Given the description of an element on the screen output the (x, y) to click on. 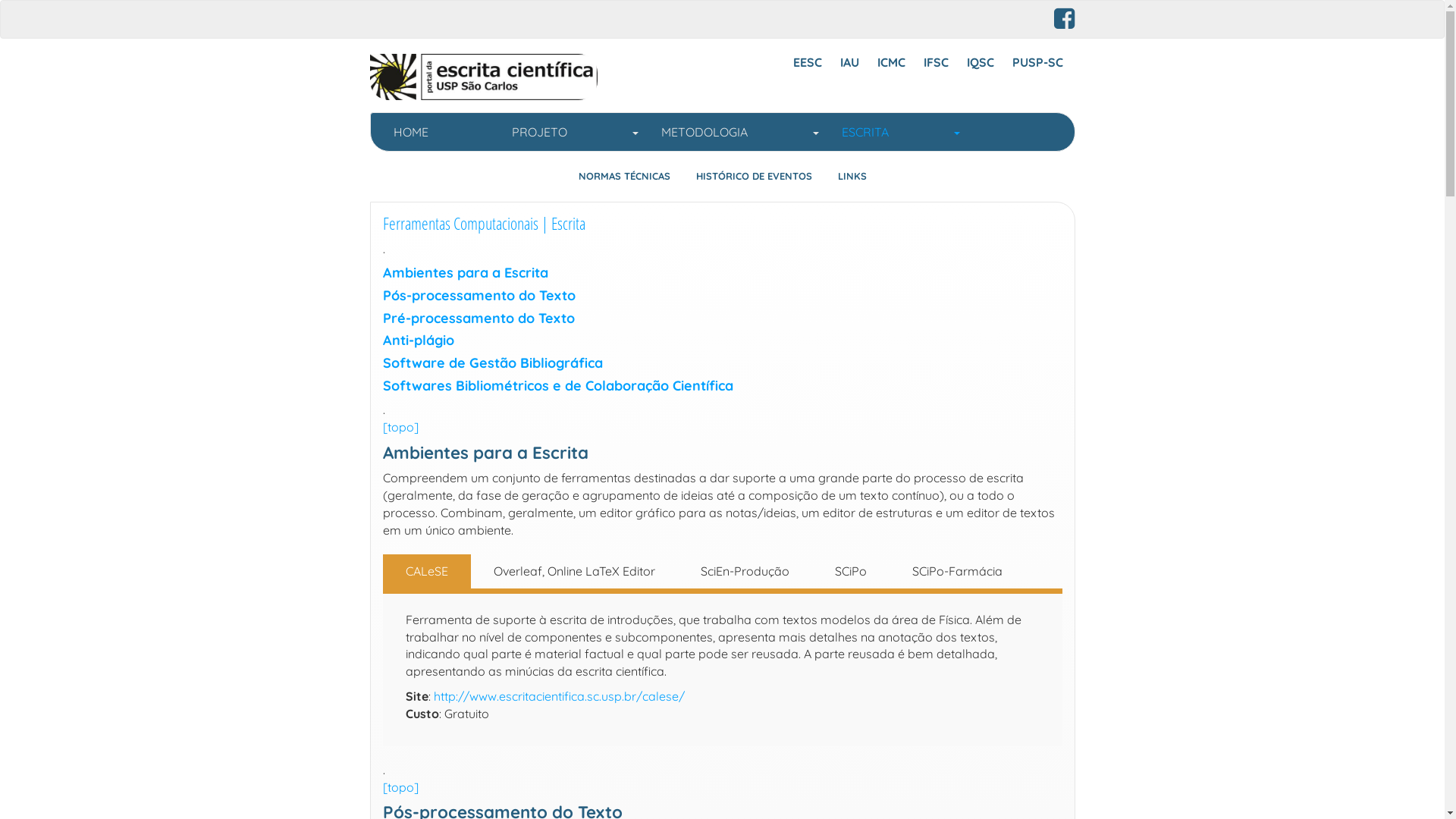
ICMC Element type: text (890, 61)
Ambientes para a Escrita Element type: text (464, 272)
PROJETO                     Element type: text (574, 131)
LINKS Element type: text (851, 175)
CALeSE Element type: text (426, 571)
Overleaf, Online LaTeX Editor Element type: text (573, 571)
IQSC Element type: text (979, 61)
http://www.escritacientifica.sc.usp.br/calese/ Element type: text (558, 695)
EESC Element type: text (807, 61)
IFSC Element type: text (935, 61)
Ferramentas Computacionais | Escrita Element type: text (483, 223)
[topo] Element type: text (399, 786)
HOME                     Element type: text (441, 131)
METODOLOGIA                     Element type: text (739, 131)
SCiPo Element type: text (849, 571)
ESCRITA                     Element type: text (899, 131)
[topo] Element type: text (399, 426)
PUSP-SC Element type: text (1036, 61)
IAU Element type: text (849, 61)
